Given the description of an element on the screen output the (x, y) to click on. 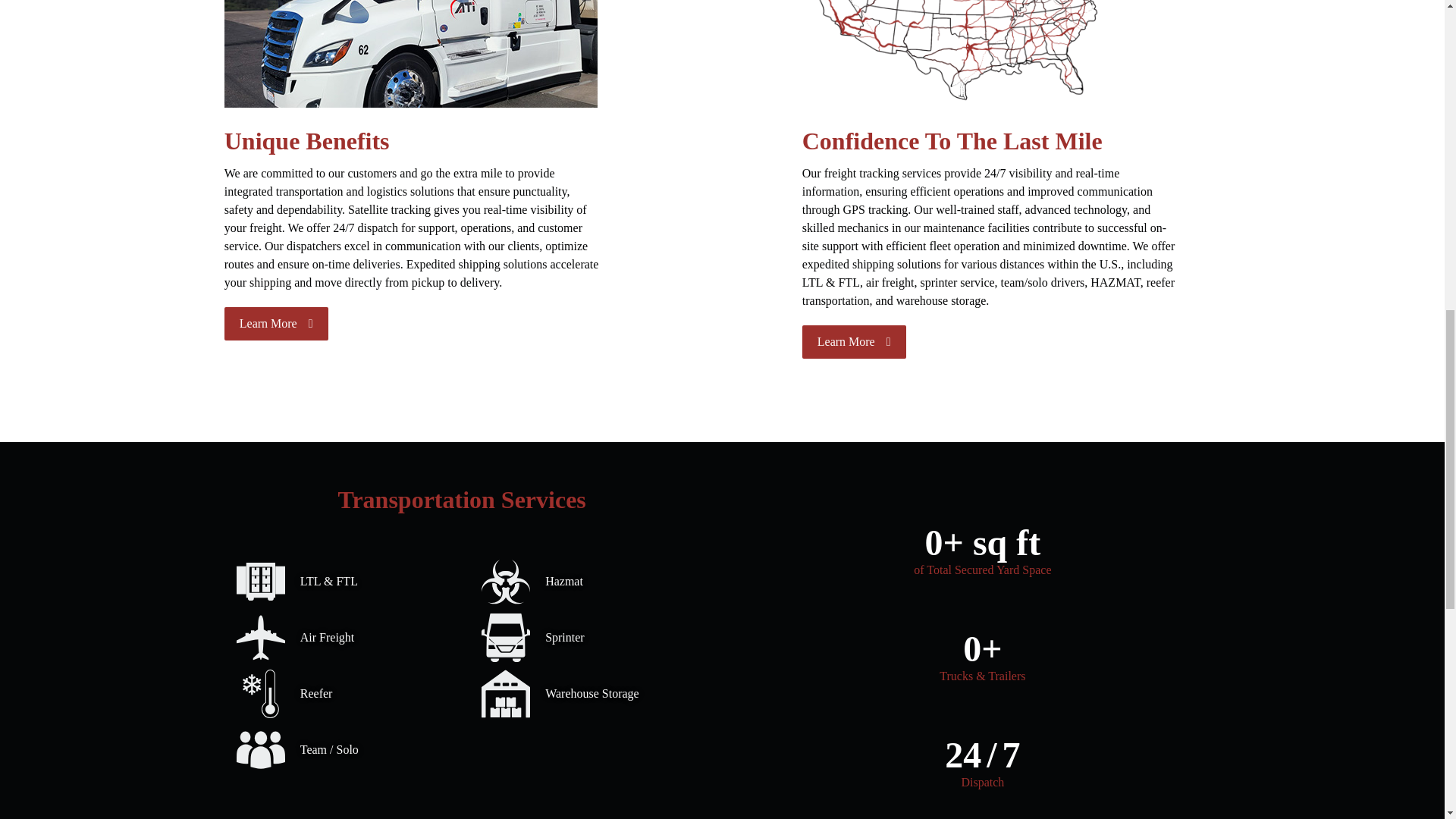
Learn More (853, 341)
Air Freight (339, 637)
Learn More (276, 323)
